Given the description of an element on the screen output the (x, y) to click on. 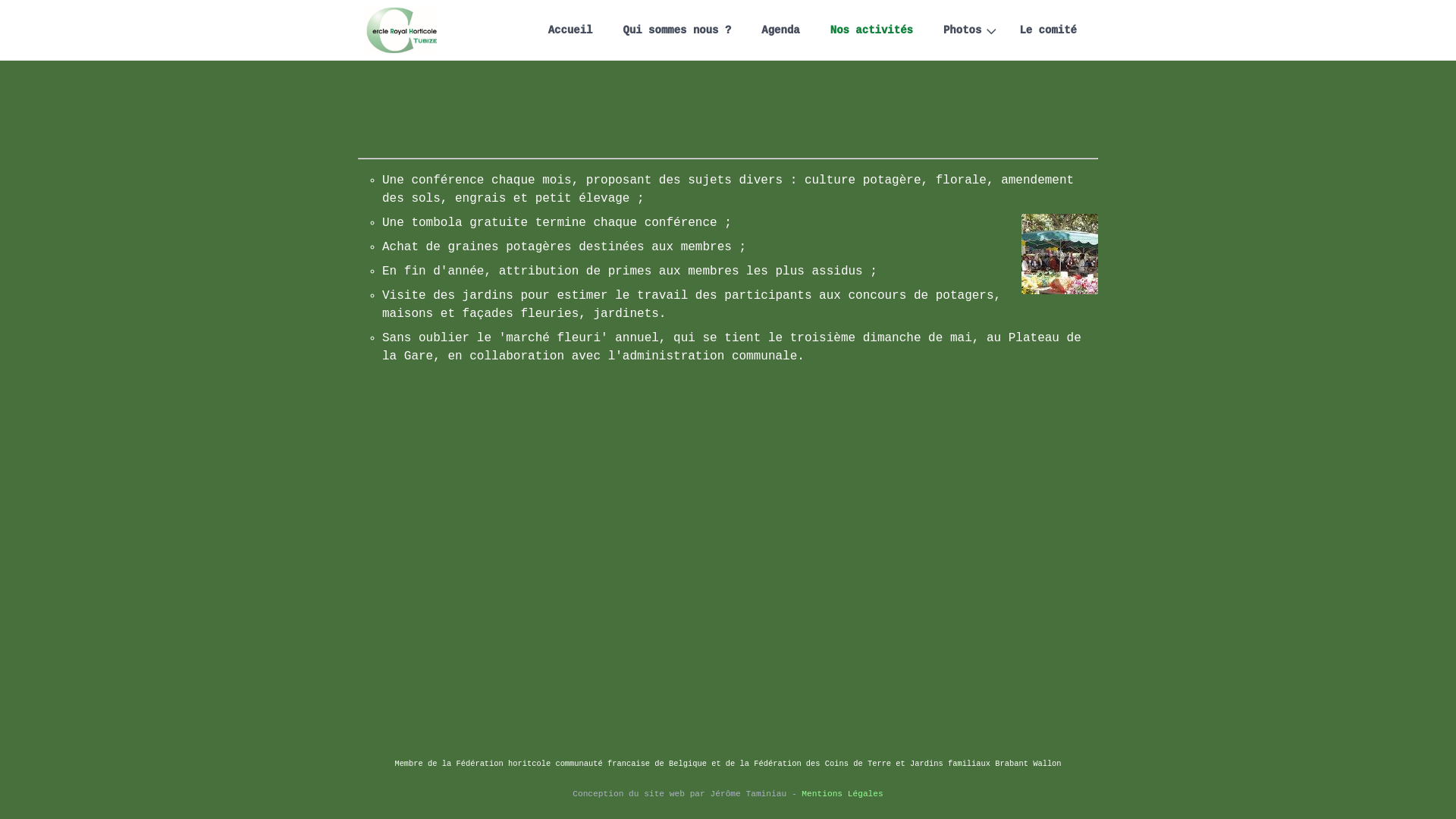
Agenda Element type: text (780, 29)
Accueil Element type: text (570, 29)
Photos Element type: text (966, 29)
Qui sommes nous ? Element type: text (676, 29)
